Given the description of an element on the screen output the (x, y) to click on. 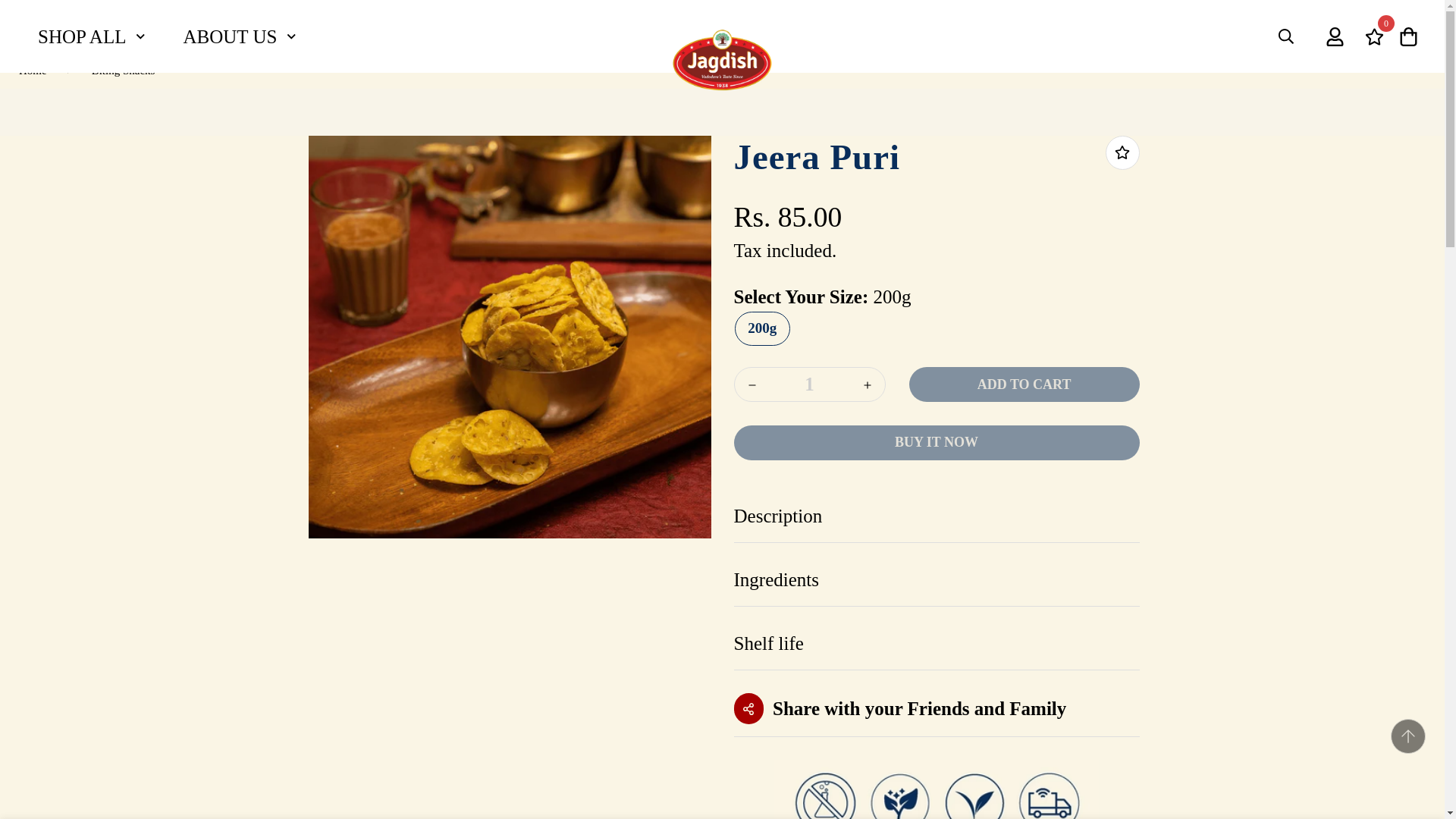
1 (166, 35)
Back to the home page (808, 384)
Jagdish Farshan  (32, 70)
SHOP ALL (722, 59)
ABOUT US (301, 35)
